Given the description of an element on the screen output the (x, y) to click on. 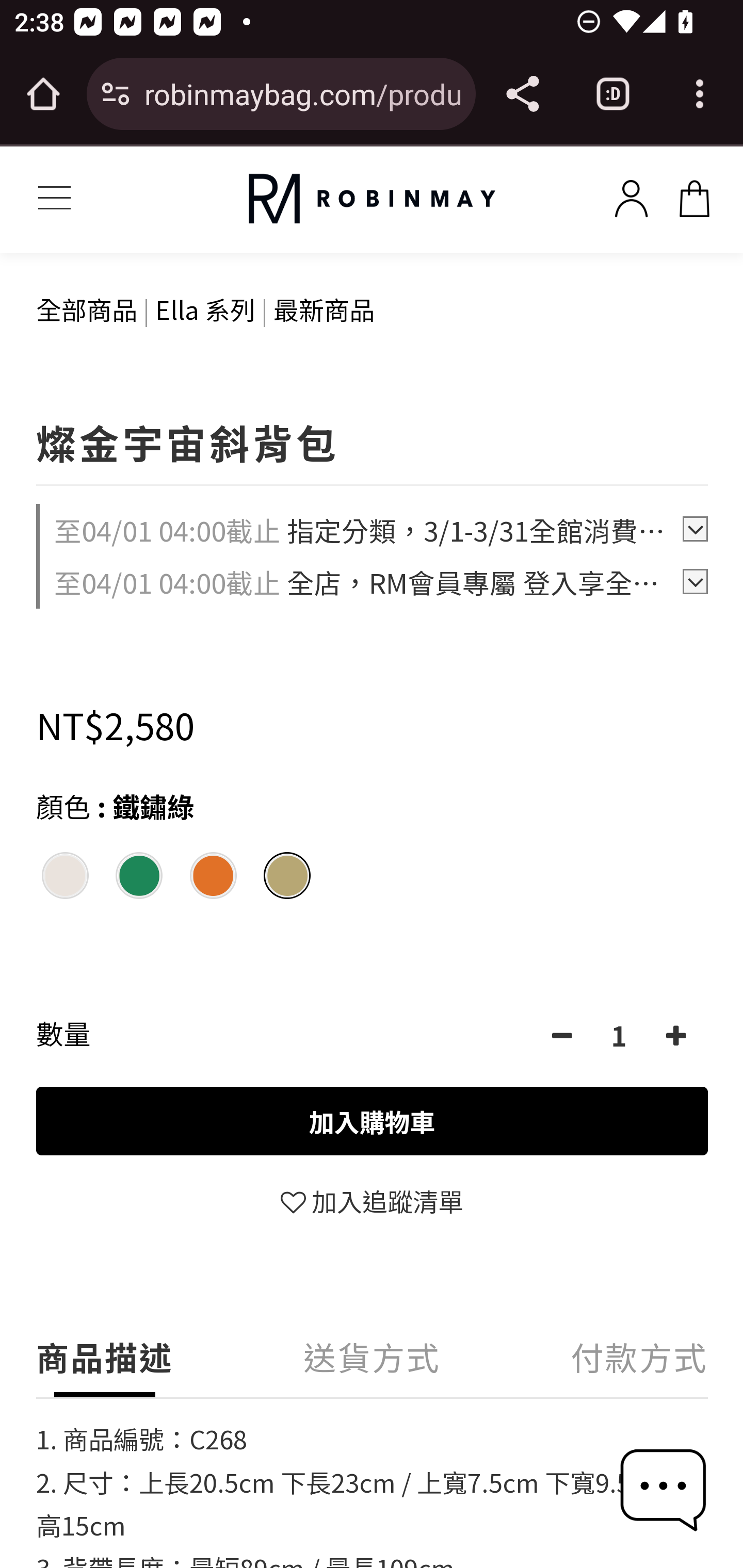
Open the home page (43, 93)
Connection is secure (115, 93)
Share (522, 93)
Switch or close tabs (612, 93)
Customize and control Google Chrome (699, 93)
original (371, 199)
x100 (631, 195)
x100 (694, 195)
全部商品 (86, 308)
Ella 系列 (205, 308)
最新商品 (323, 308)
 (561, 1035)
1 (618, 1035)
 (675, 1035)
加入購物車 (372, 1121)
